Given the description of an element on the screen output the (x, y) to click on. 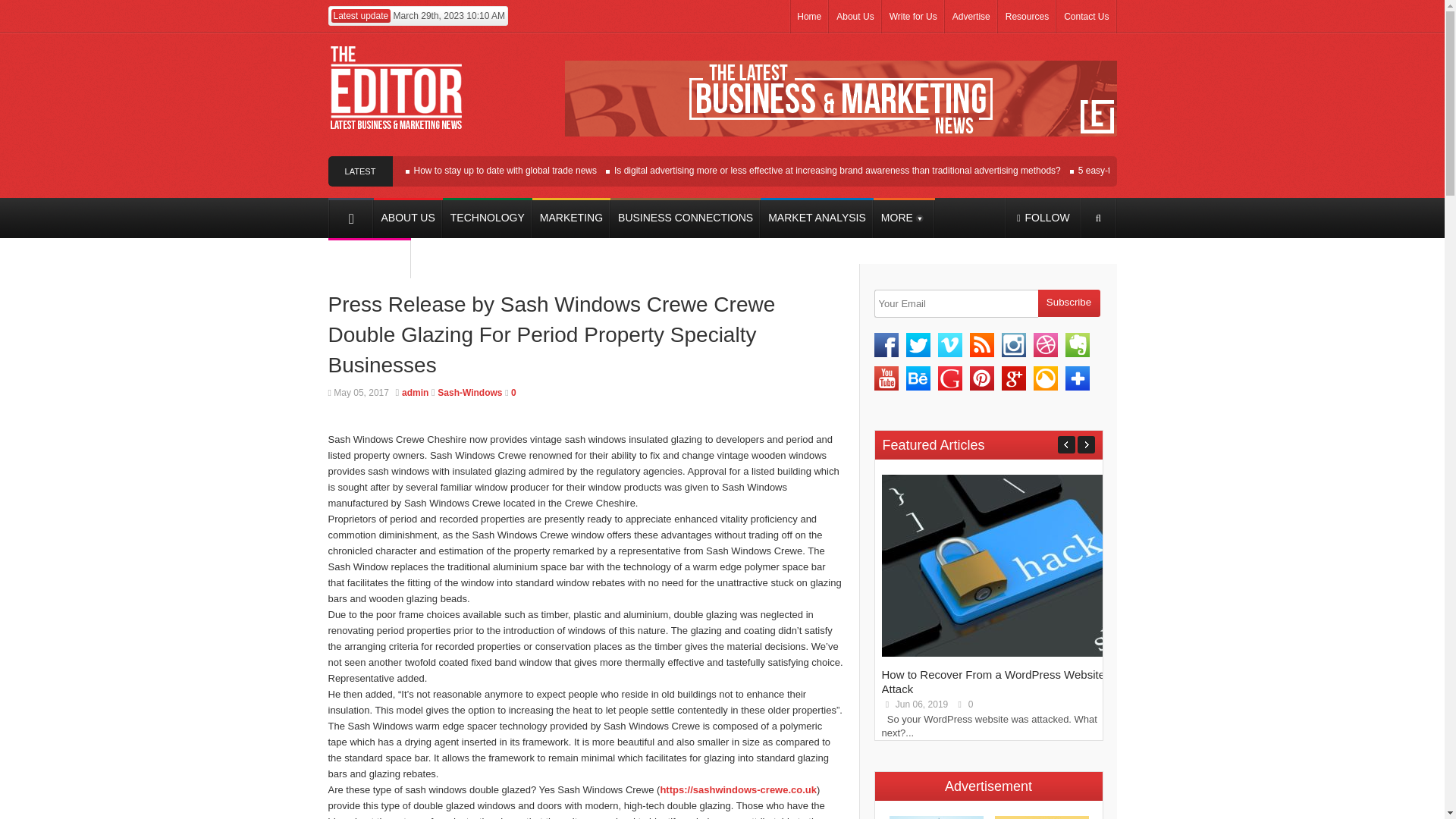
About Us (854, 16)
Posts by admin (414, 392)
Advertise (970, 16)
How to Recover From a WordPress Website Attack (994, 653)
MARKET ANALYSIS (816, 218)
FOLLOW (1042, 218)
TECHNOLOGY (487, 218)
Write for Us (913, 16)
Contact Us (1086, 16)
MARKETING (571, 218)
Your Email (954, 303)
